Given the description of an element on the screen output the (x, y) to click on. 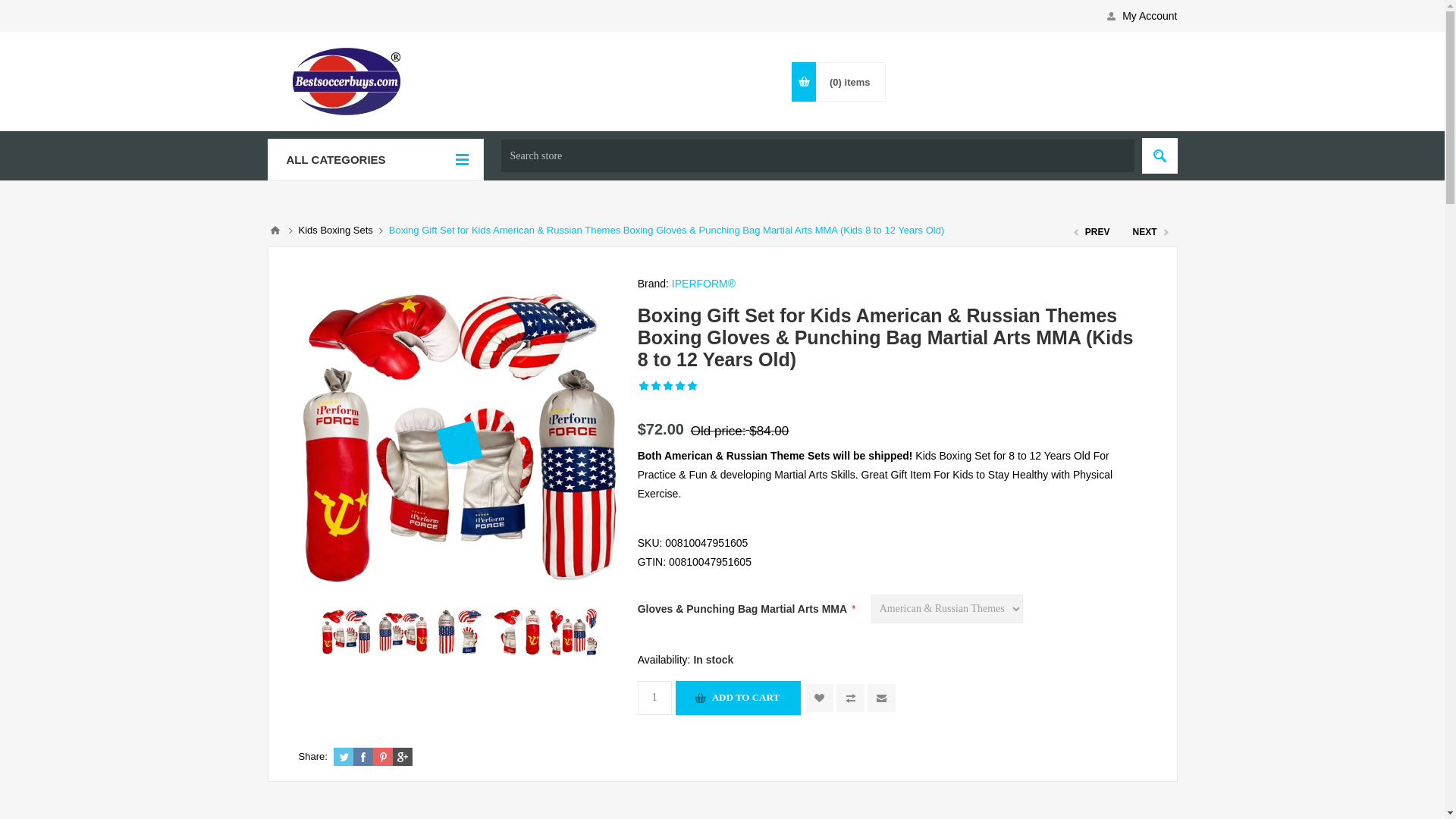
Add to cart (737, 697)
Add to wishlist (818, 697)
Search (1159, 155)
Search (1159, 155)
Add to compare list (849, 697)
Email a friend (881, 697)
1 (654, 697)
